Given the description of an element on the screen output the (x, y) to click on. 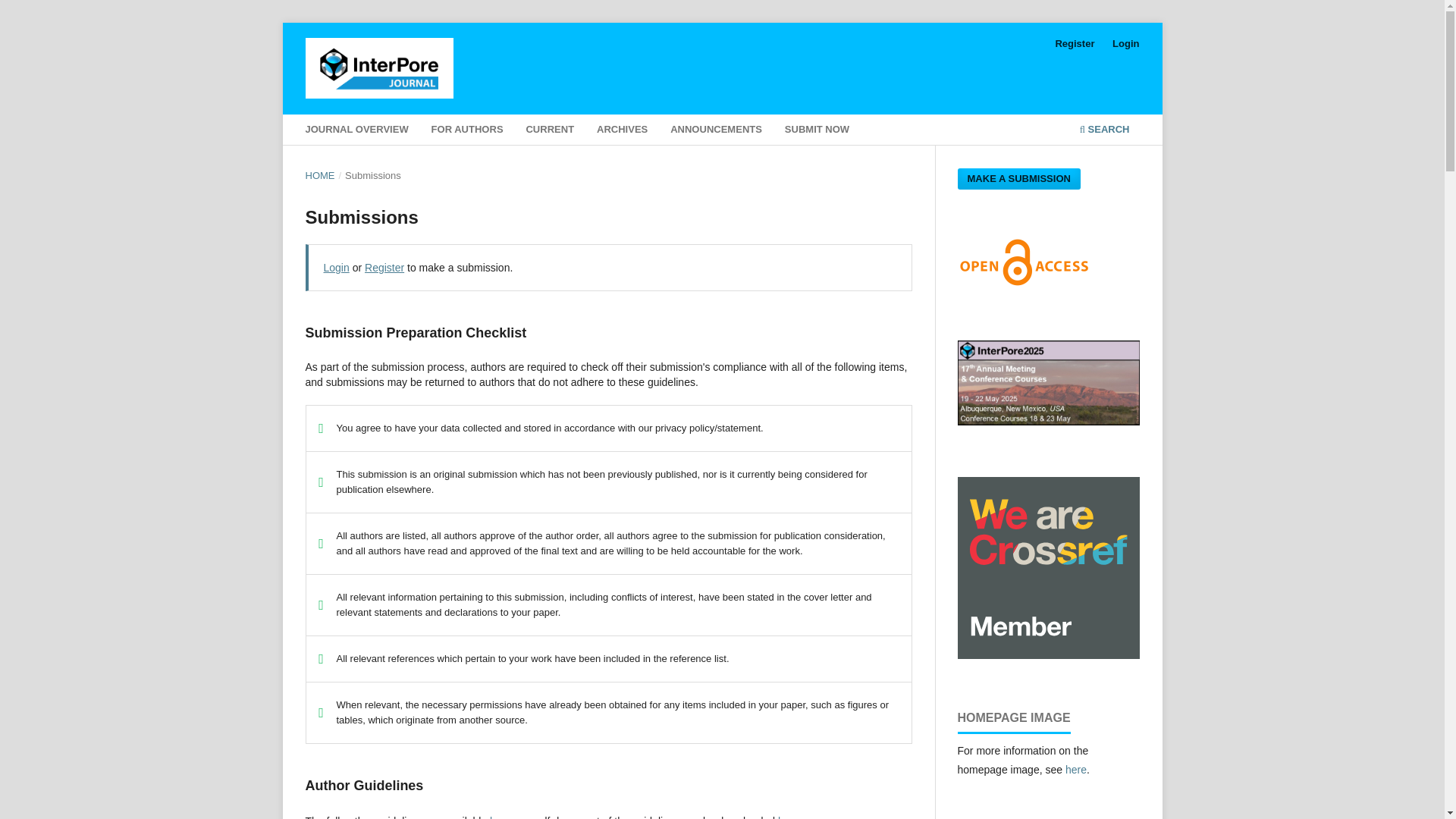
HOME (319, 175)
SUBMIT NOW (815, 130)
Login (336, 267)
SEARCH (1104, 130)
here (500, 816)
ARCHIVES (621, 130)
here (788, 816)
Register (384, 267)
Link to Author Instructions in a pdf format for download (788, 816)
CURRENT (550, 130)
